Given the description of an element on the screen output the (x, y) to click on. 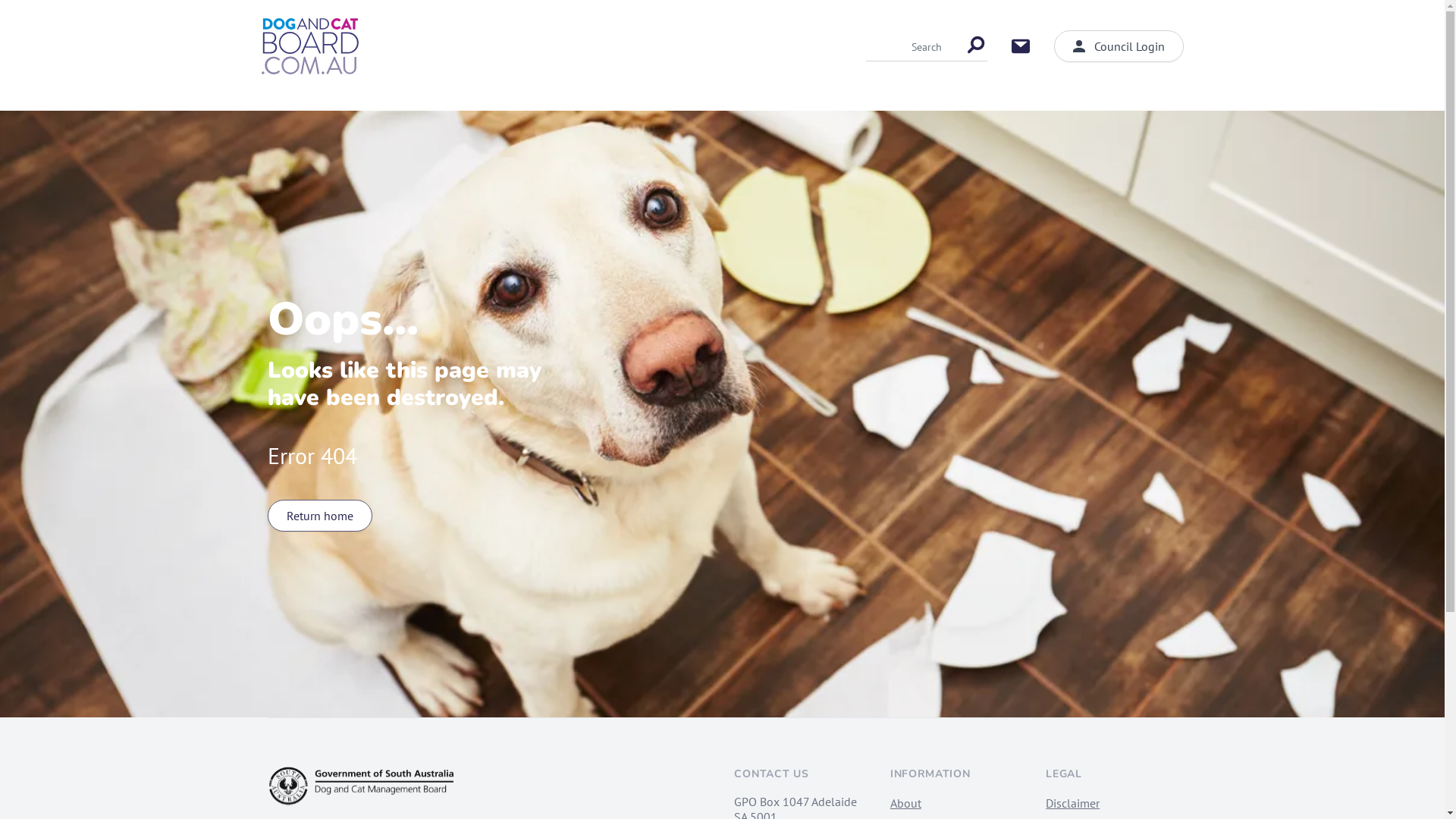
Council Login Element type: text (1118, 46)
About Element type: text (905, 802)
Disclaimer Element type: text (1072, 802)
Return home Element type: text (318, 515)
contact-us Element type: text (1020, 46)
